Given the description of an element on the screen output the (x, y) to click on. 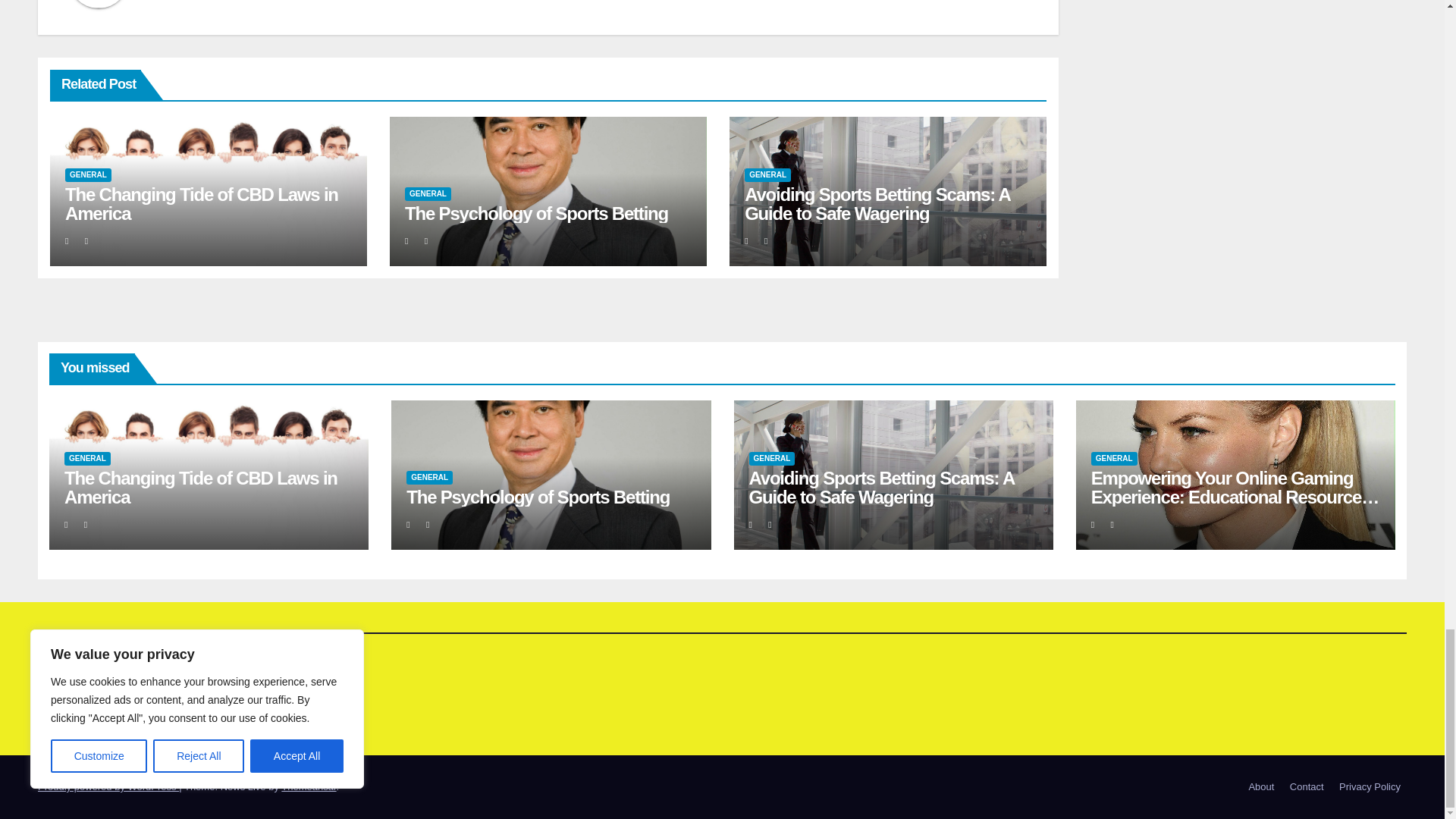
Permalink to: The Psychology of Sports Betting (536, 213)
Permalink to: The Changing Tide of CBD Laws in America (201, 203)
Permalink to: The Changing Tide of CBD Laws in America (200, 486)
Privacy Policy (1369, 786)
Permalink to: The Psychology of Sports Betting (537, 496)
About (1260, 786)
Contact (1307, 786)
